Given the description of an element on the screen output the (x, y) to click on. 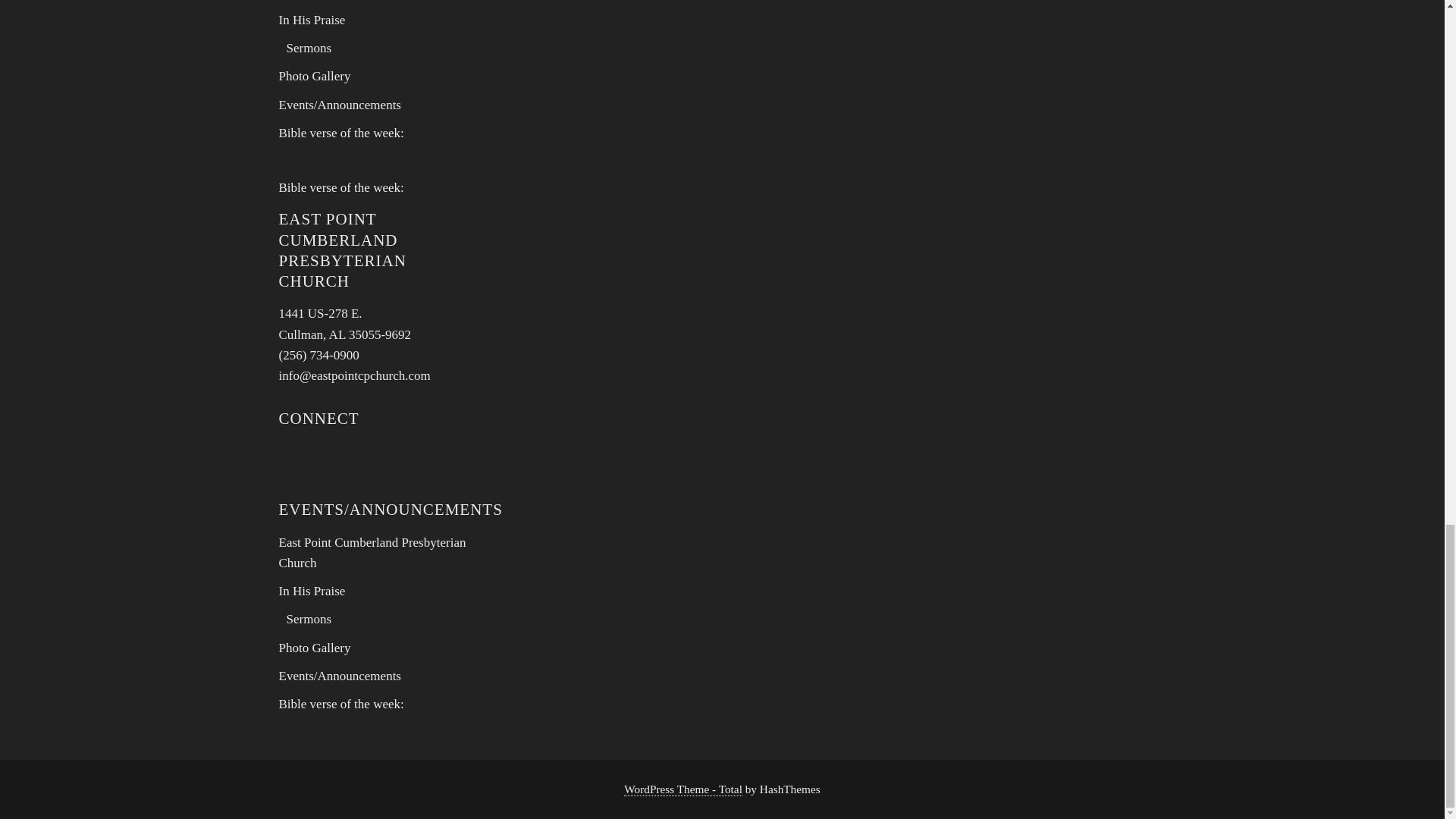
Sermons (308, 47)
Bible verse of the week: (341, 133)
Photo Gallery (314, 75)
East Point Cumberland Presbyterian Church (372, 552)
In His Praise (312, 20)
Email (297, 458)
Facebook (336, 458)
